Given the description of an element on the screen output the (x, y) to click on. 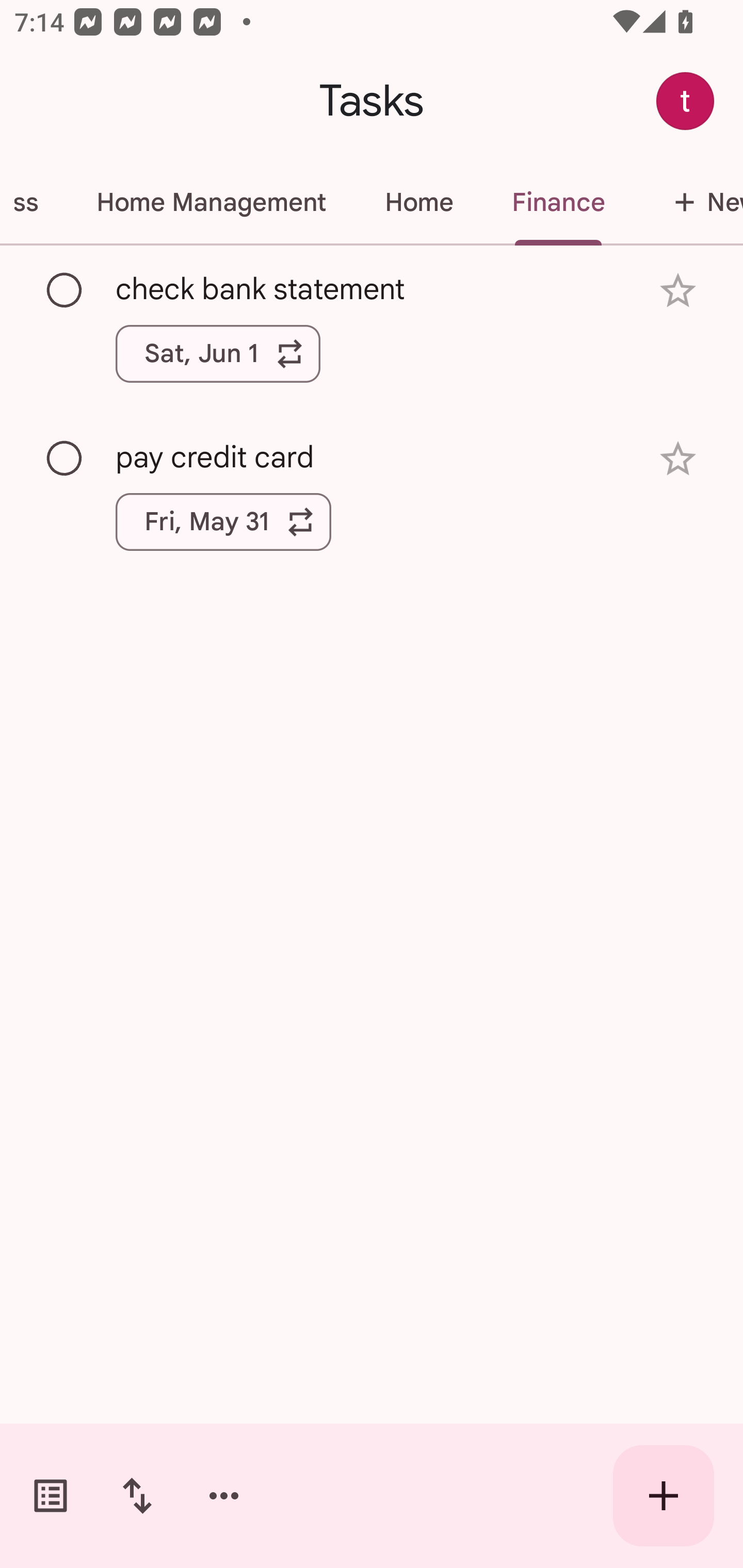
Home Management (210, 202)
Home (418, 202)
New list (688, 202)
Add star (677, 290)
Mark as complete (64, 290)
Sat, Jun 1 (217, 353)
Add star (677, 458)
Mark as complete (64, 459)
Fri, May 31 (223, 522)
Switch task lists (50, 1495)
Create new task (663, 1495)
Change sort order (136, 1495)
More options (223, 1495)
